Given the description of an element on the screen output the (x, y) to click on. 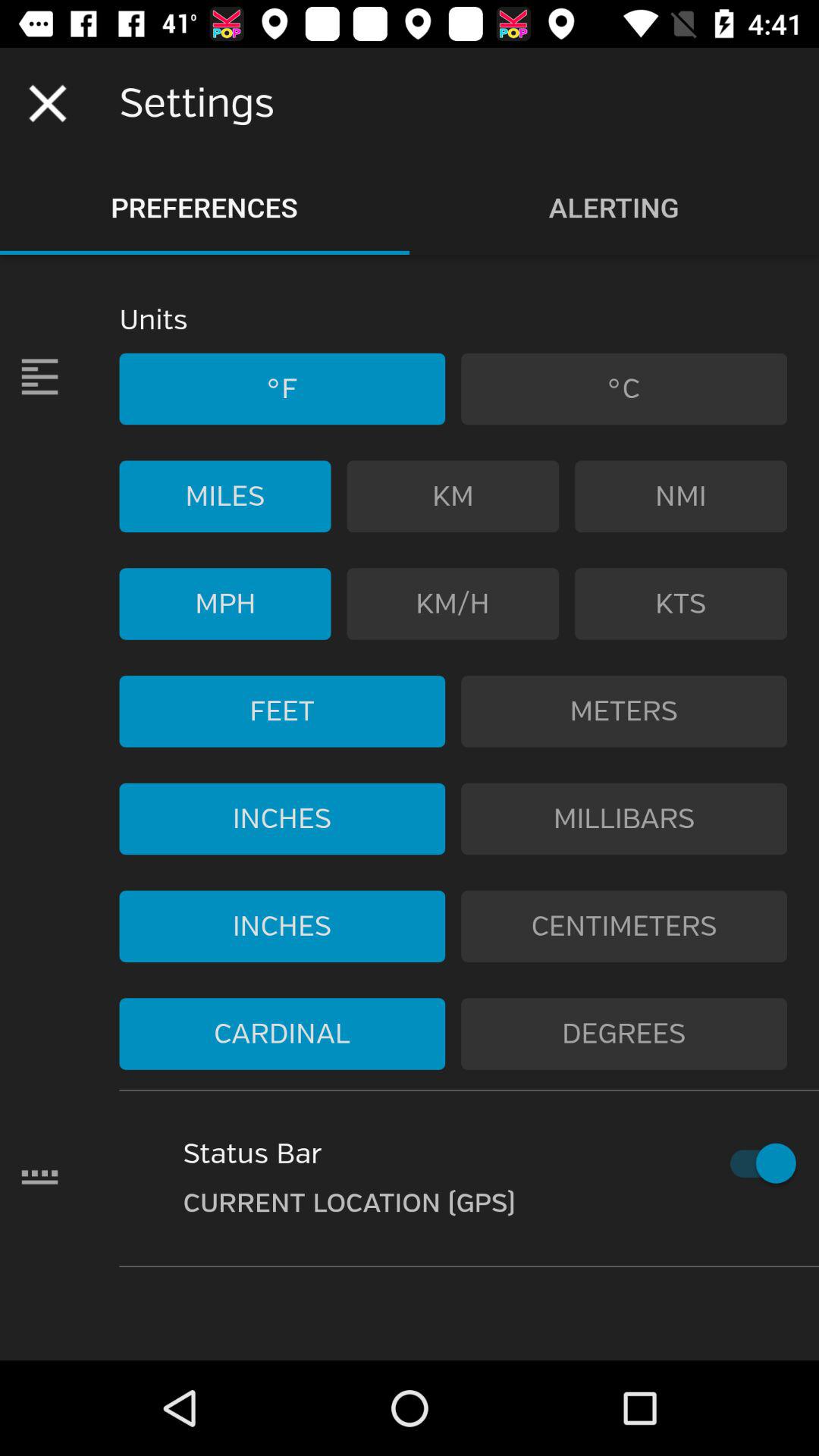
tap item below millibars item (624, 926)
